Given the description of an element on the screen output the (x, y) to click on. 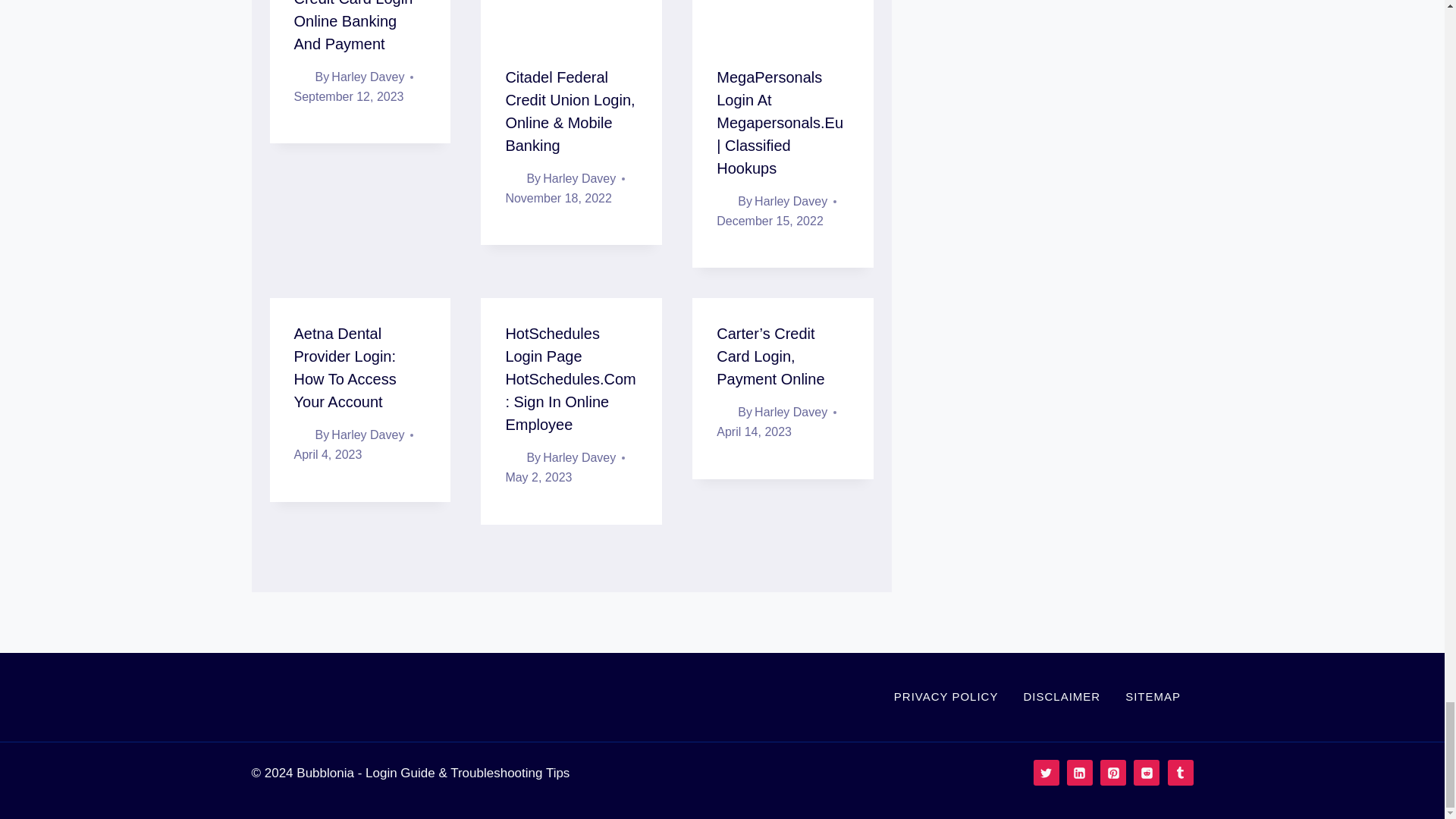
Bank Of America Credit Card Login Online Banking And Payment (353, 26)
Harley Davey (579, 178)
Harley Davey (367, 76)
